Given the description of an element on the screen output the (x, y) to click on. 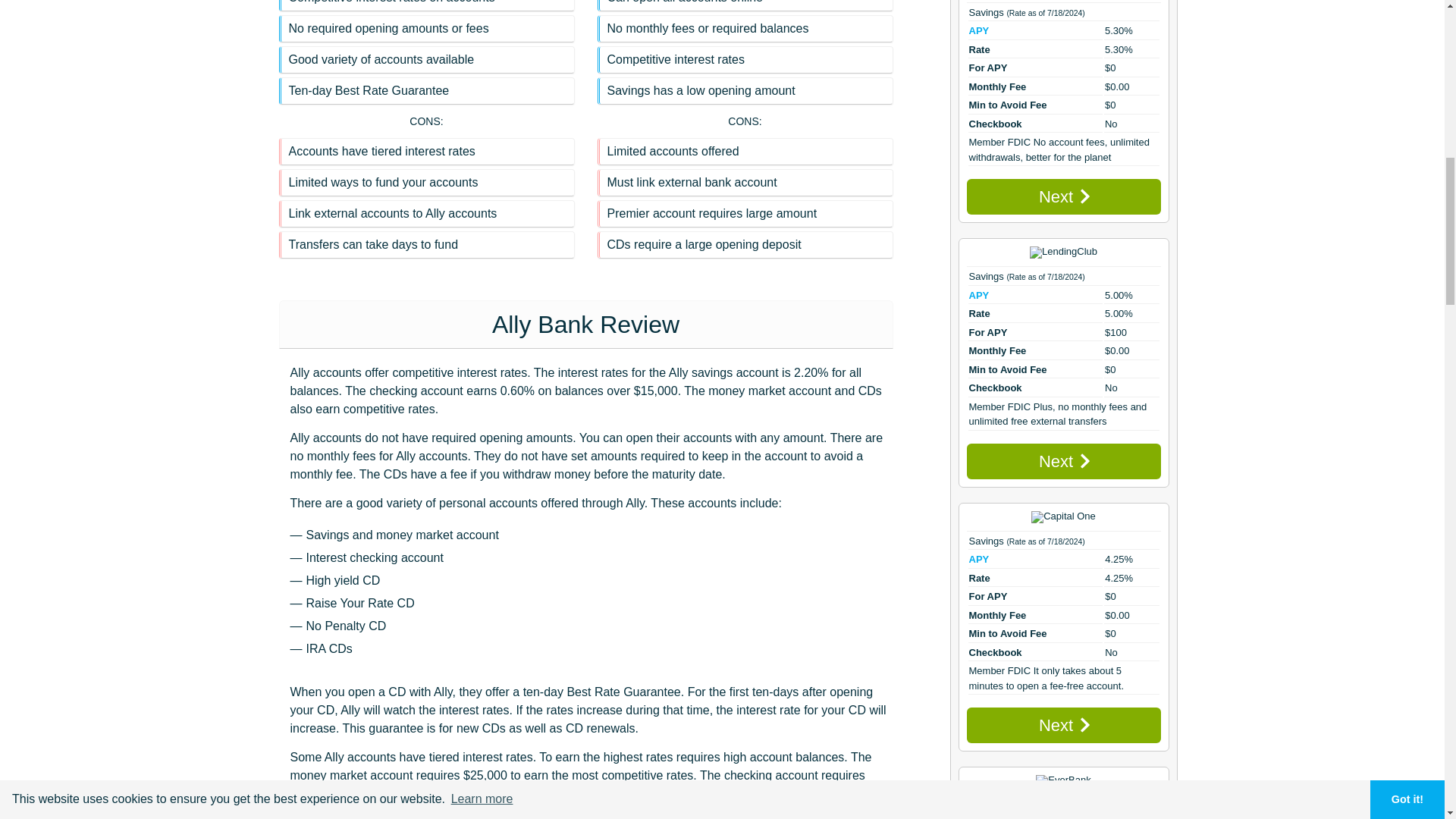
Next (1063, 724)
Capital One (1063, 517)
Next (1063, 196)
EverBank (1062, 780)
LendingClub (1063, 252)
Next (1063, 461)
